Given the description of an element on the screen output the (x, y) to click on. 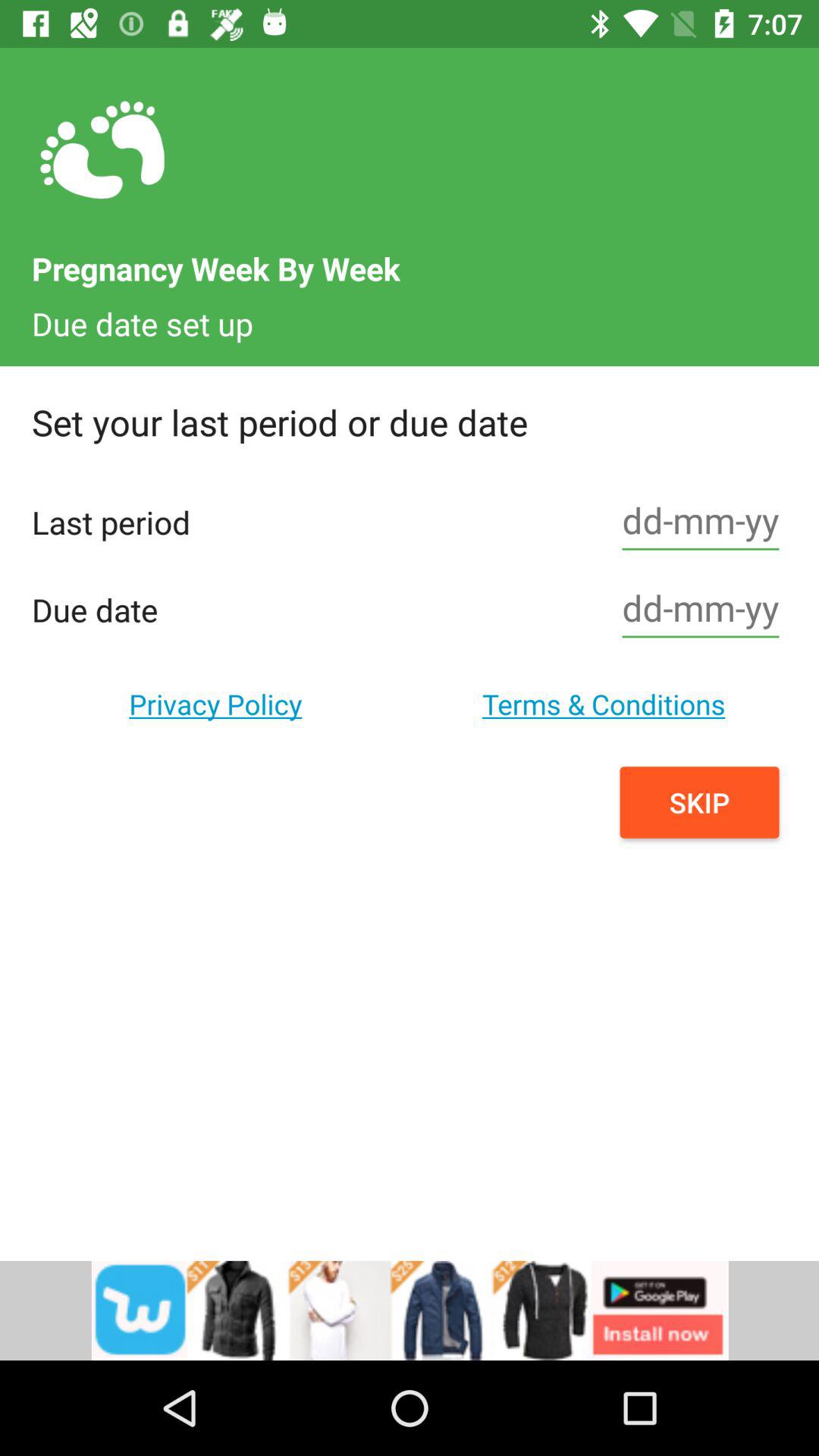
advertisement (409, 1310)
